Given the description of an element on the screen output the (x, y) to click on. 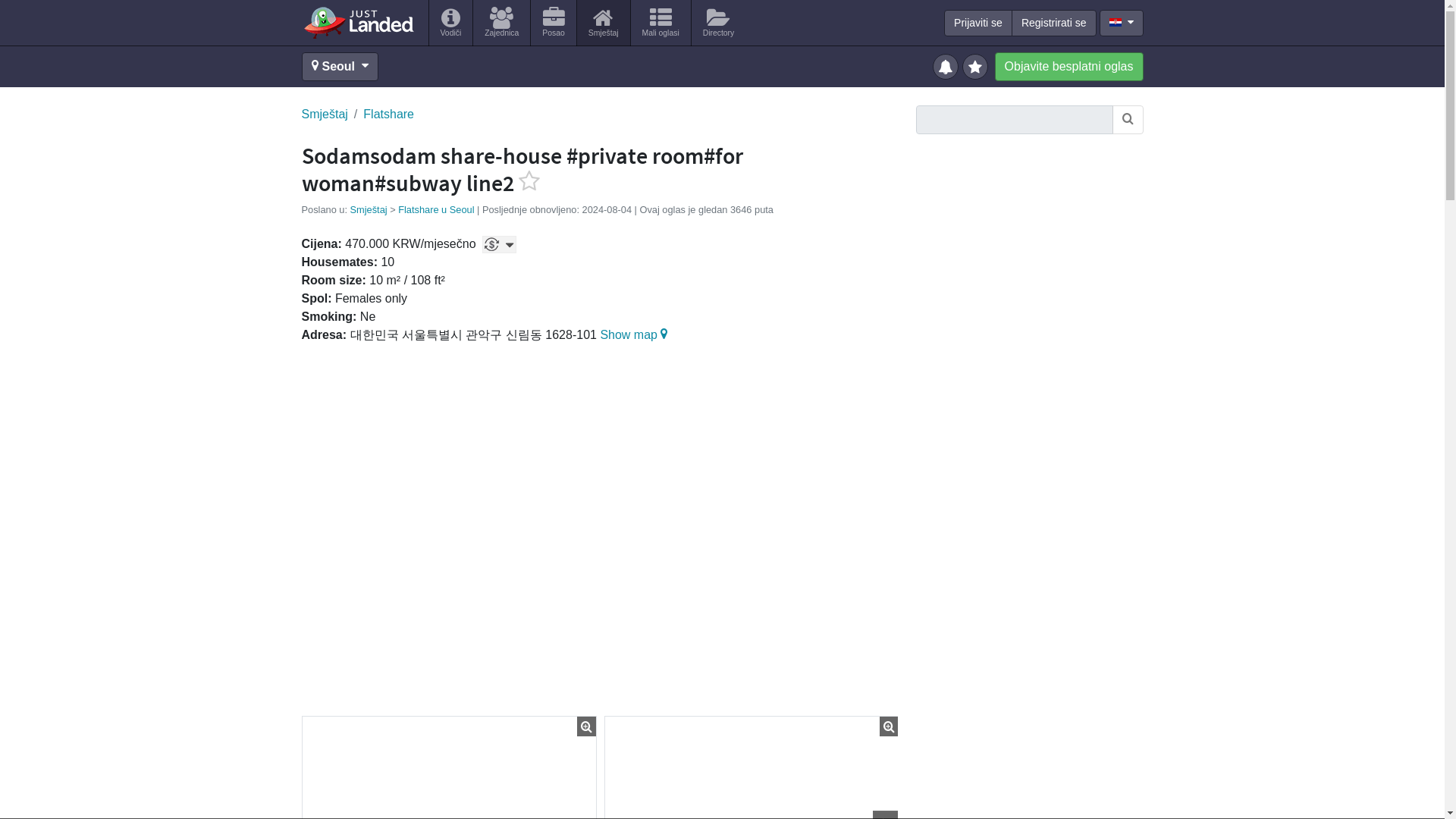
Directory u Seoul (718, 22)
Posao u Seoul (553, 22)
Show map (635, 334)
Just Landed (357, 22)
Croatian (1114, 22)
Prijaviti se (977, 22)
Zajednica u Seoul (501, 22)
Favoriti (976, 65)
Flatshare (387, 114)
Mali oglasi u Seoul (660, 22)
